Given the description of an element on the screen output the (x, y) to click on. 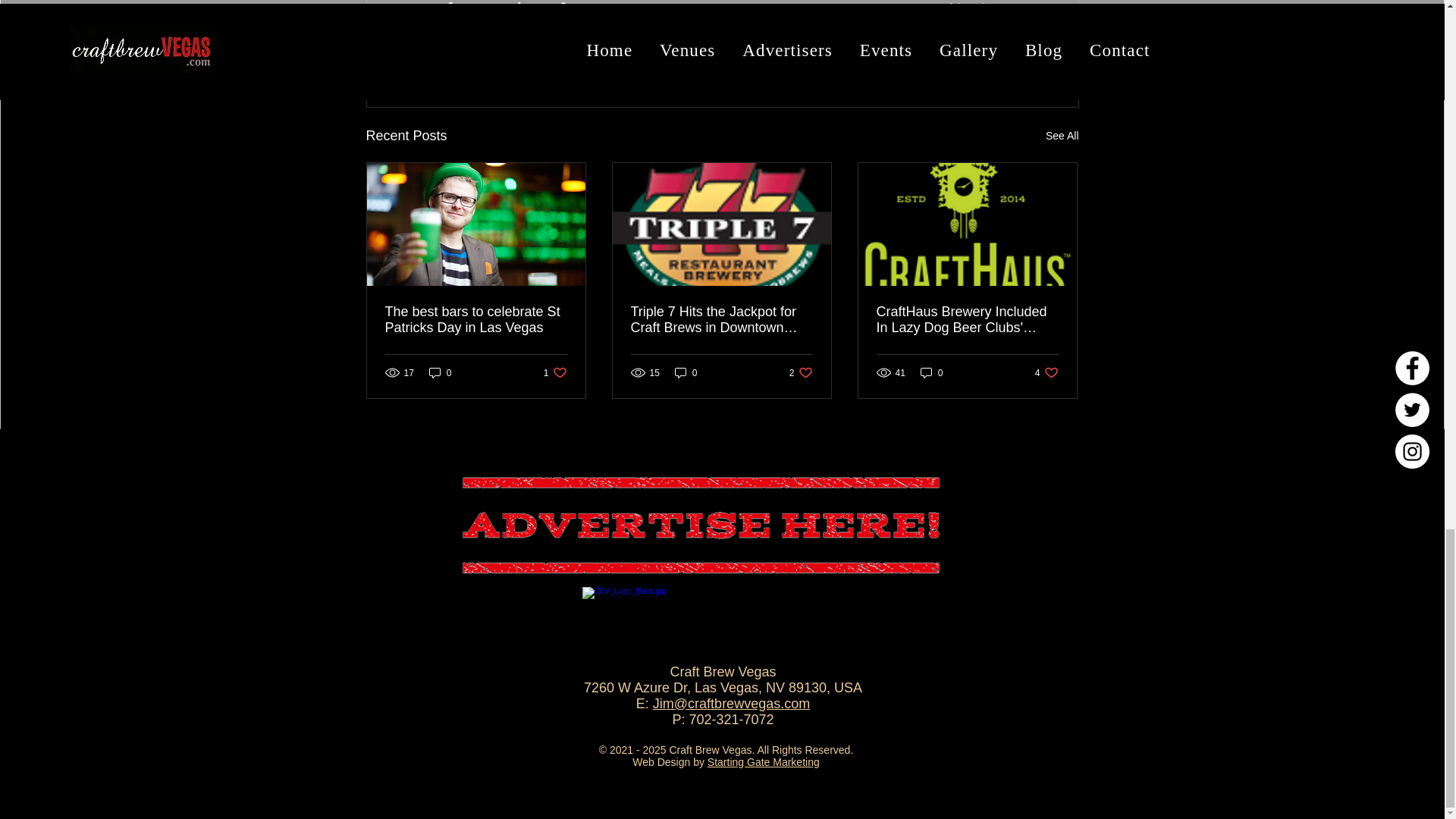
craft beer bars (555, 372)
The best bars to celebrate St Patricks Day in Las Vegas (968, 7)
See All (476, 319)
0 (990, 52)
